Given the description of an element on the screen output the (x, y) to click on. 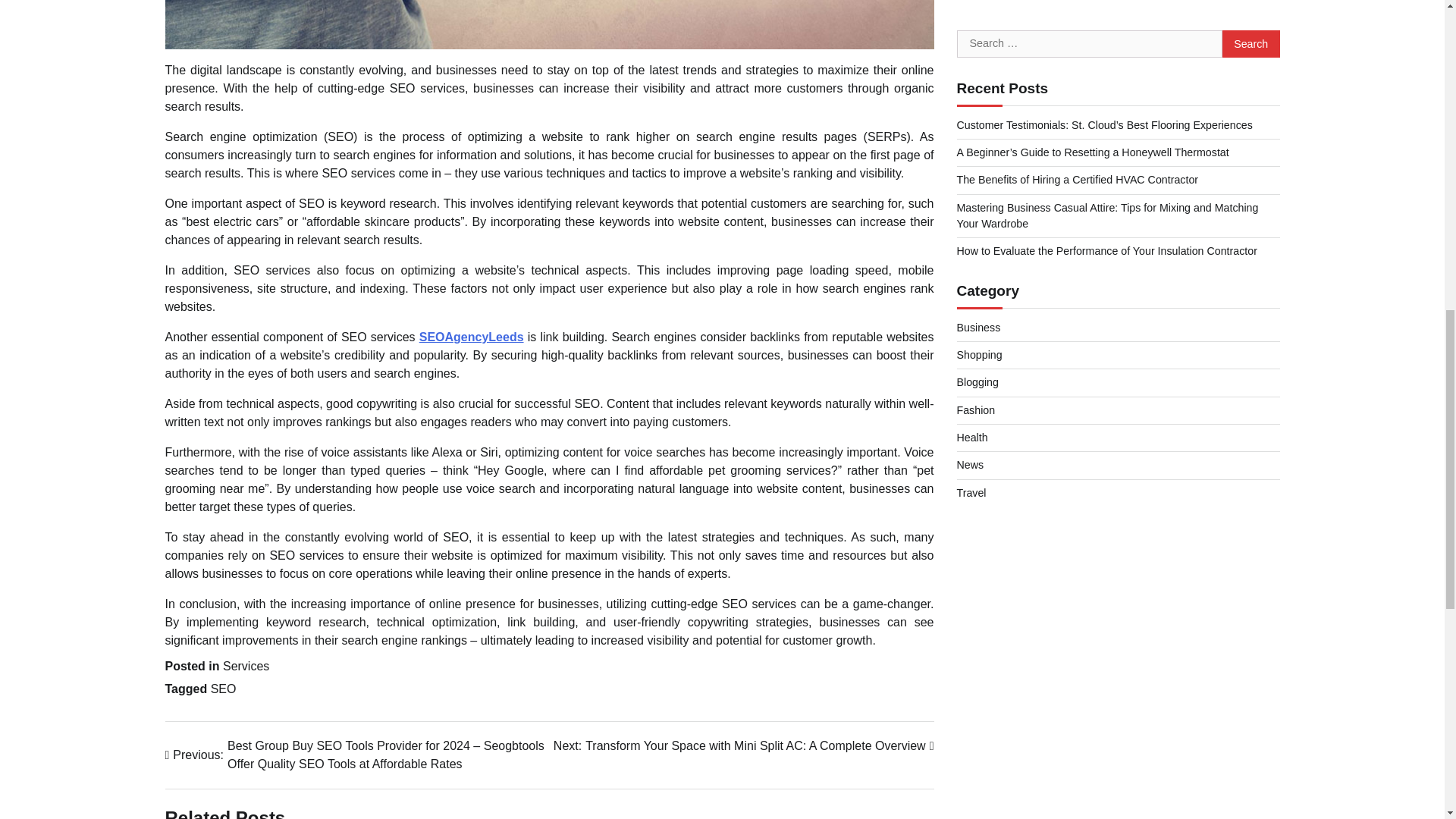
SEOAgencyLeeds (471, 336)
SEO (223, 688)
Services (245, 666)
